Given the description of an element on the screen output the (x, y) to click on. 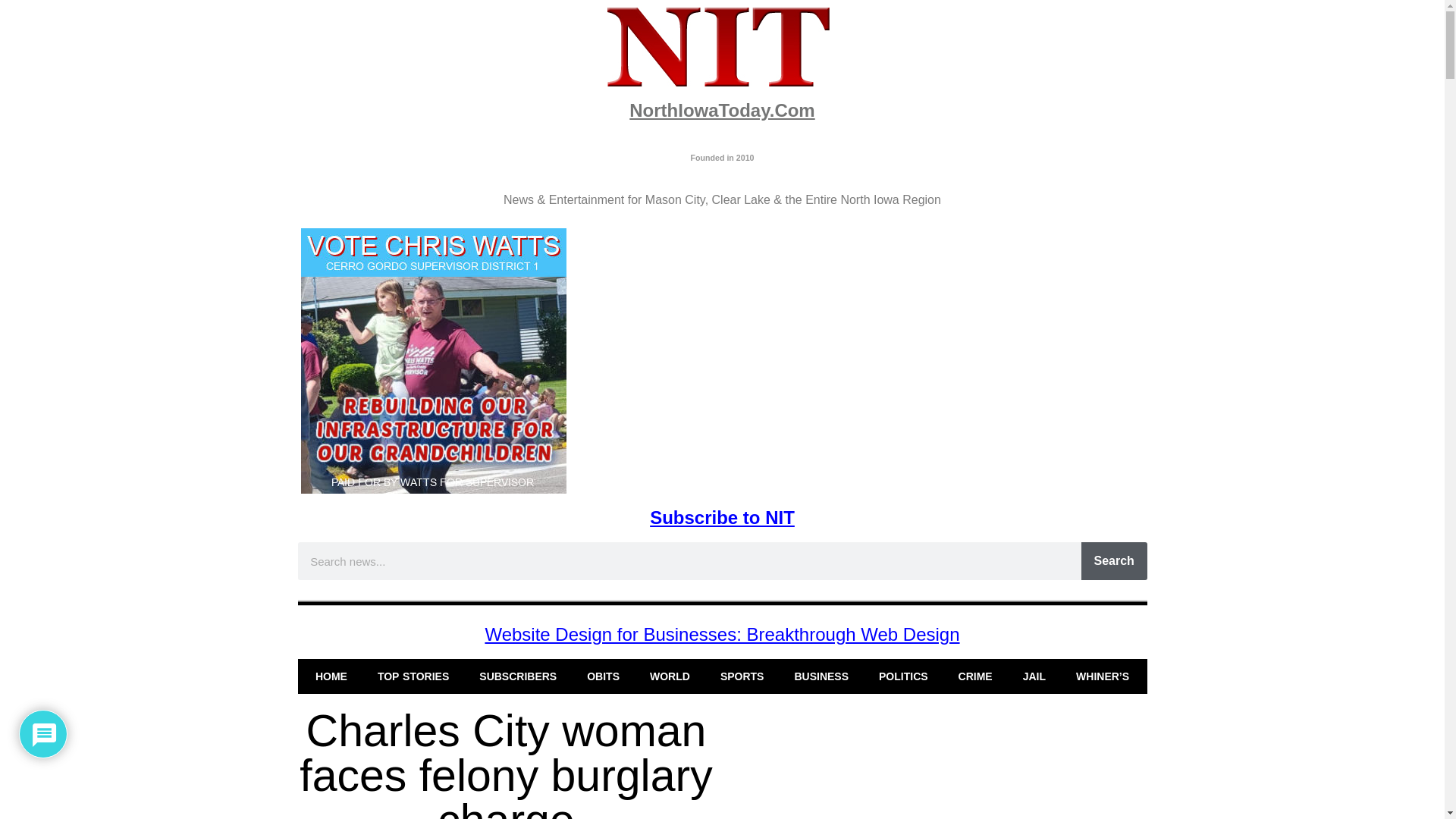
HOME (330, 676)
POLITICS (903, 676)
TOP STORIES (413, 676)
NorthIowaToday.Com (720, 109)
Subscribe to NIT (721, 516)
OBITS (603, 676)
CRIME (975, 676)
SPORTS (741, 676)
JAIL (1034, 676)
Advertisement (938, 764)
BUSINESS (820, 676)
Search (1114, 560)
SUBSCRIBERS (518, 676)
Website Design for Businesses: Breakthrough Web Design (721, 634)
WORLD (669, 676)
